Given the description of an element on the screen output the (x, y) to click on. 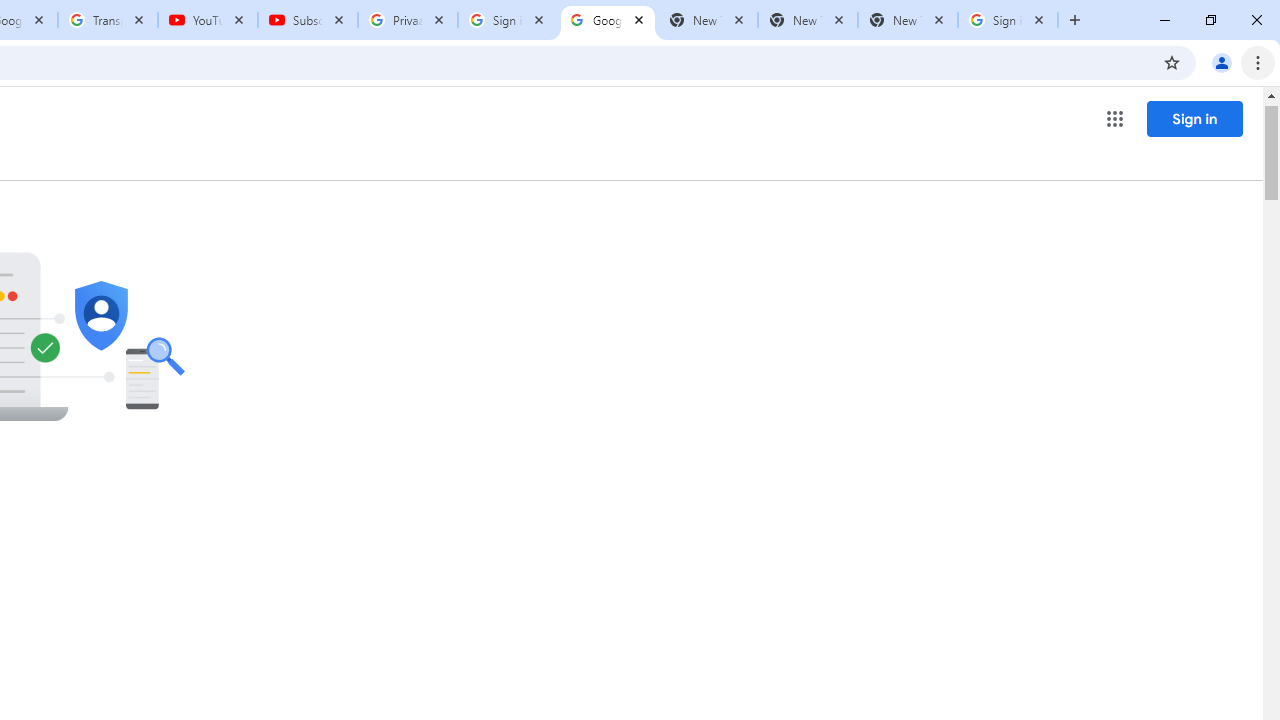
YouTube (207, 20)
